Given the description of an element on the screen output the (x, y) to click on. 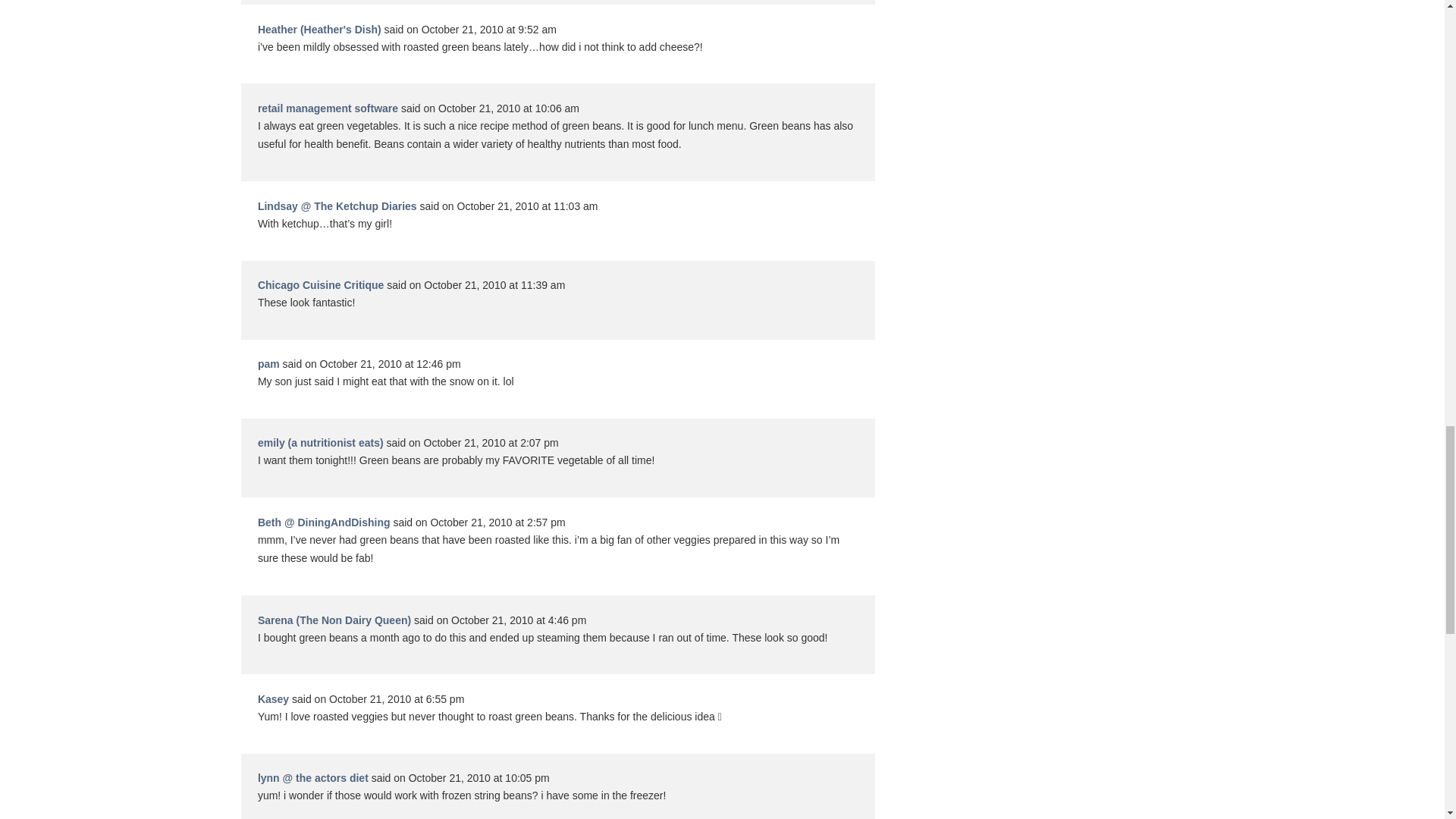
Chicago Cuisine Critique (320, 285)
pam (268, 363)
retail management software (327, 108)
Kasey (272, 698)
